Given the description of an element on the screen output the (x, y) to click on. 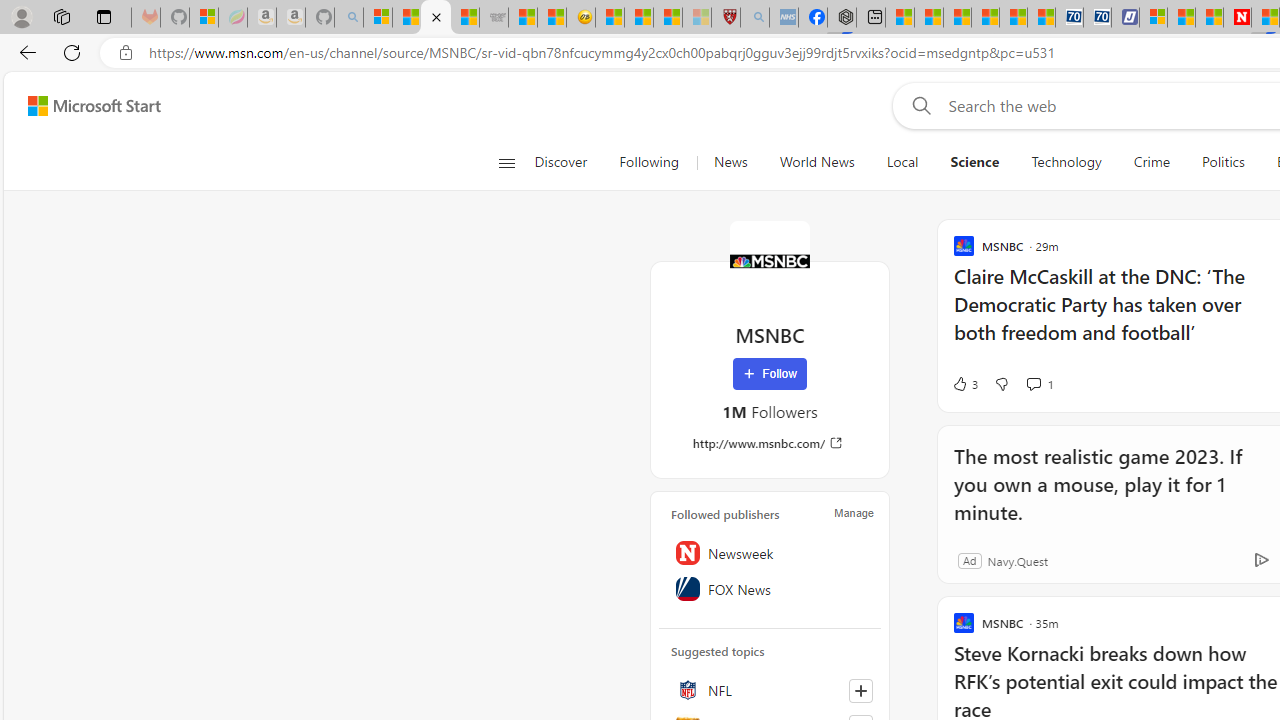
Politics (1223, 162)
NFL (770, 690)
Robert H. Shmerling, MD - Harvard Health (725, 17)
Science - MSN (668, 17)
Manage (854, 512)
MSNBC (769, 260)
Web search (917, 105)
